Given the description of an element on the screen output the (x, y) to click on. 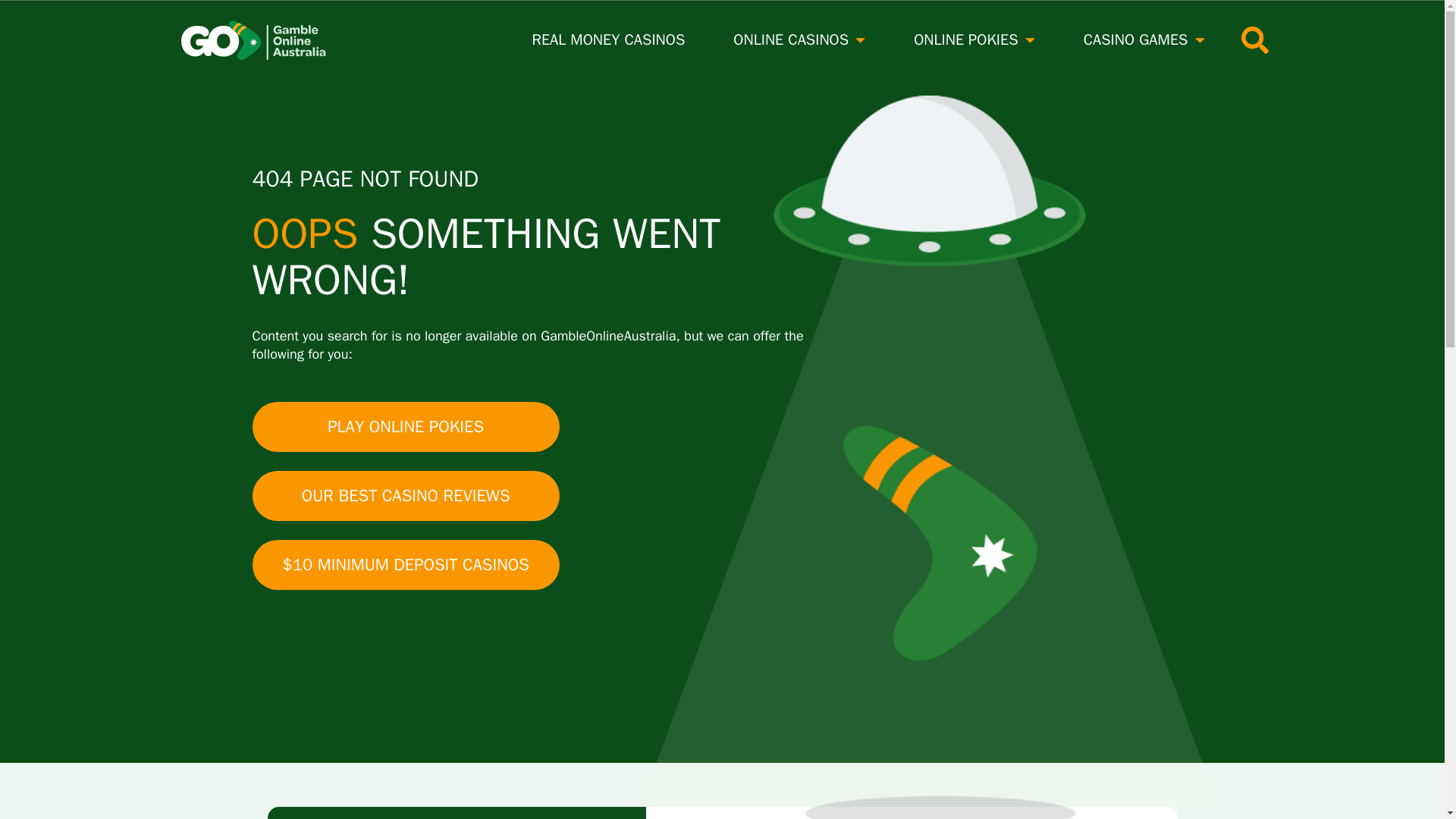
OUR BEST CASINO REVIEWS (405, 495)
ONLINE CASINOS (790, 39)
ONLINE POKIES (965, 39)
Gamble Online Australia (261, 40)
REAL MONEY CASINOS (608, 39)
CASINO GAMES (1135, 39)
PLAY ONLINE POKIES (405, 427)
